Given the description of an element on the screen output the (x, y) to click on. 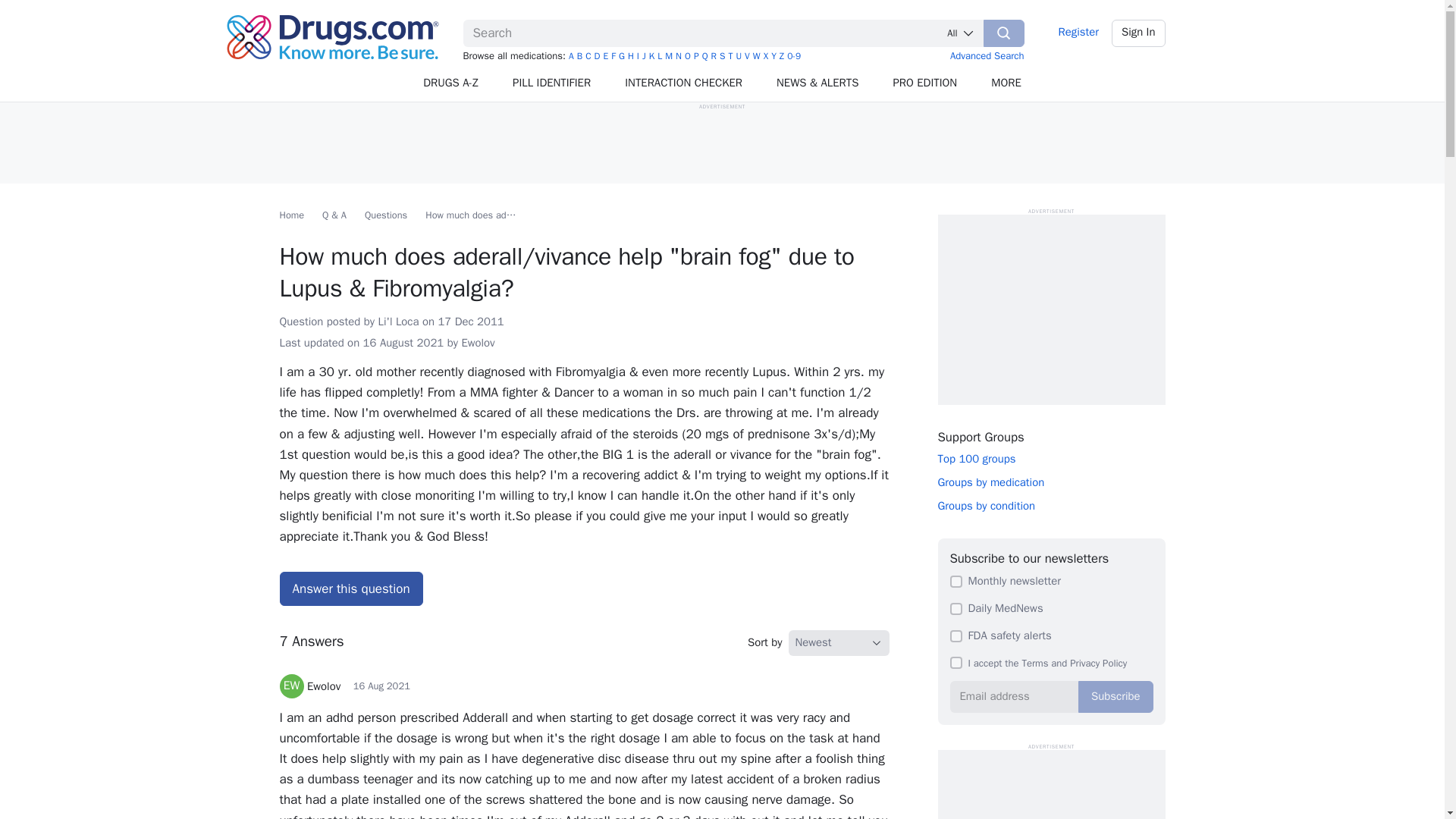
16 August 2021 8:24am (403, 342)
DRUGS A-Z (450, 83)
16 December 2011 7:45pm (470, 321)
Register (1078, 32)
Advanced Search (987, 55)
0-9 (793, 55)
Sign In (1139, 32)
